Given the description of an element on the screen output the (x, y) to click on. 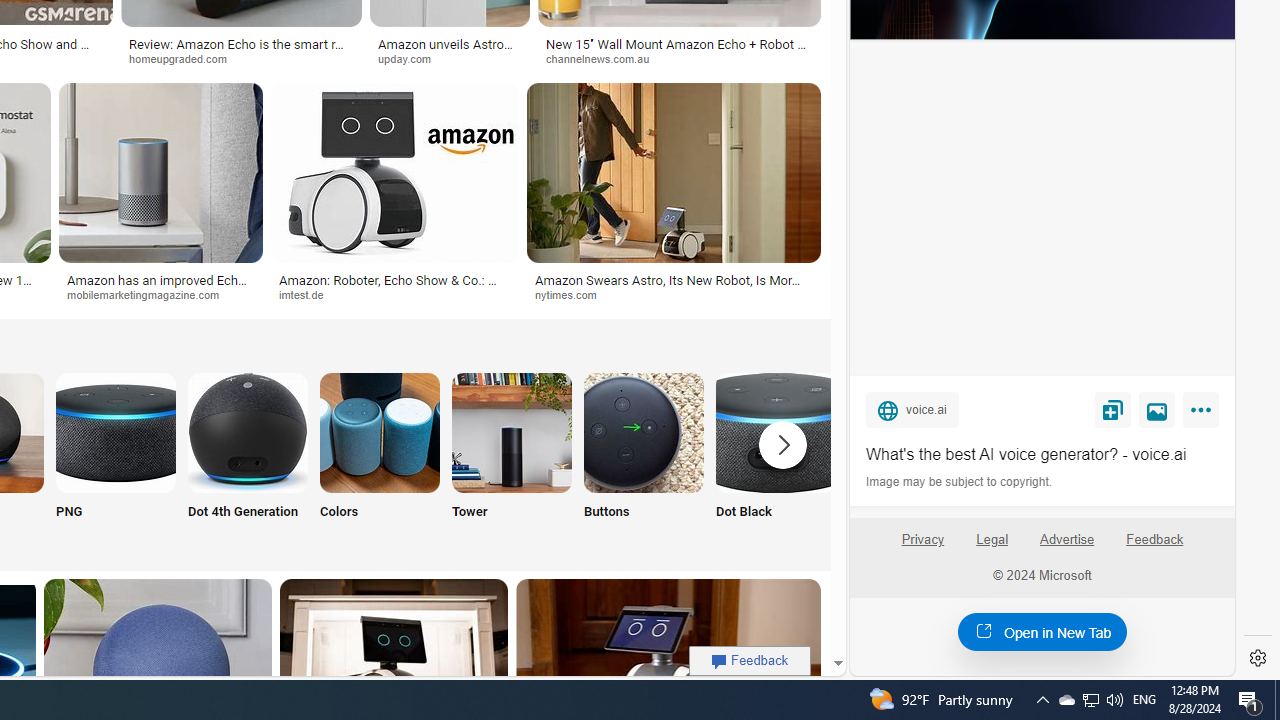
voice.ai (912, 409)
Legal (991, 539)
channelnews.com.au (605, 57)
Save (1112, 409)
imtest.de (308, 294)
Open in New Tab (1042, 631)
Dot 4th Generation (248, 457)
Buttons (643, 457)
Settings (1258, 658)
Amazon Echo Buttons Buttons (643, 458)
